Given the description of an element on the screen output the (x, y) to click on. 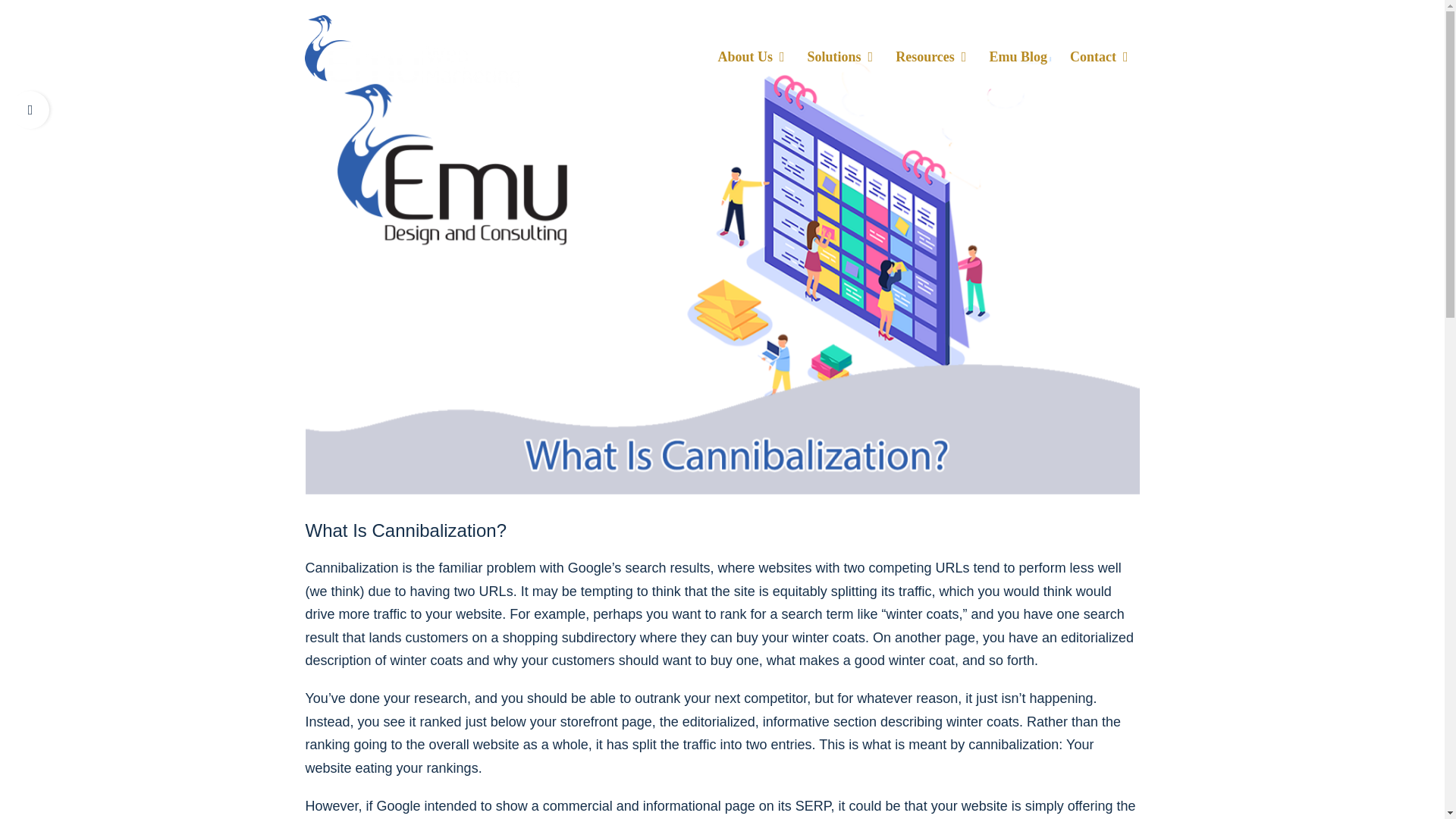
About Us (750, 50)
Solutions (840, 50)
Resources (929, 50)
Contact (1099, 50)
Emu Blog (1017, 50)
